Given the description of an element on the screen output the (x, y) to click on. 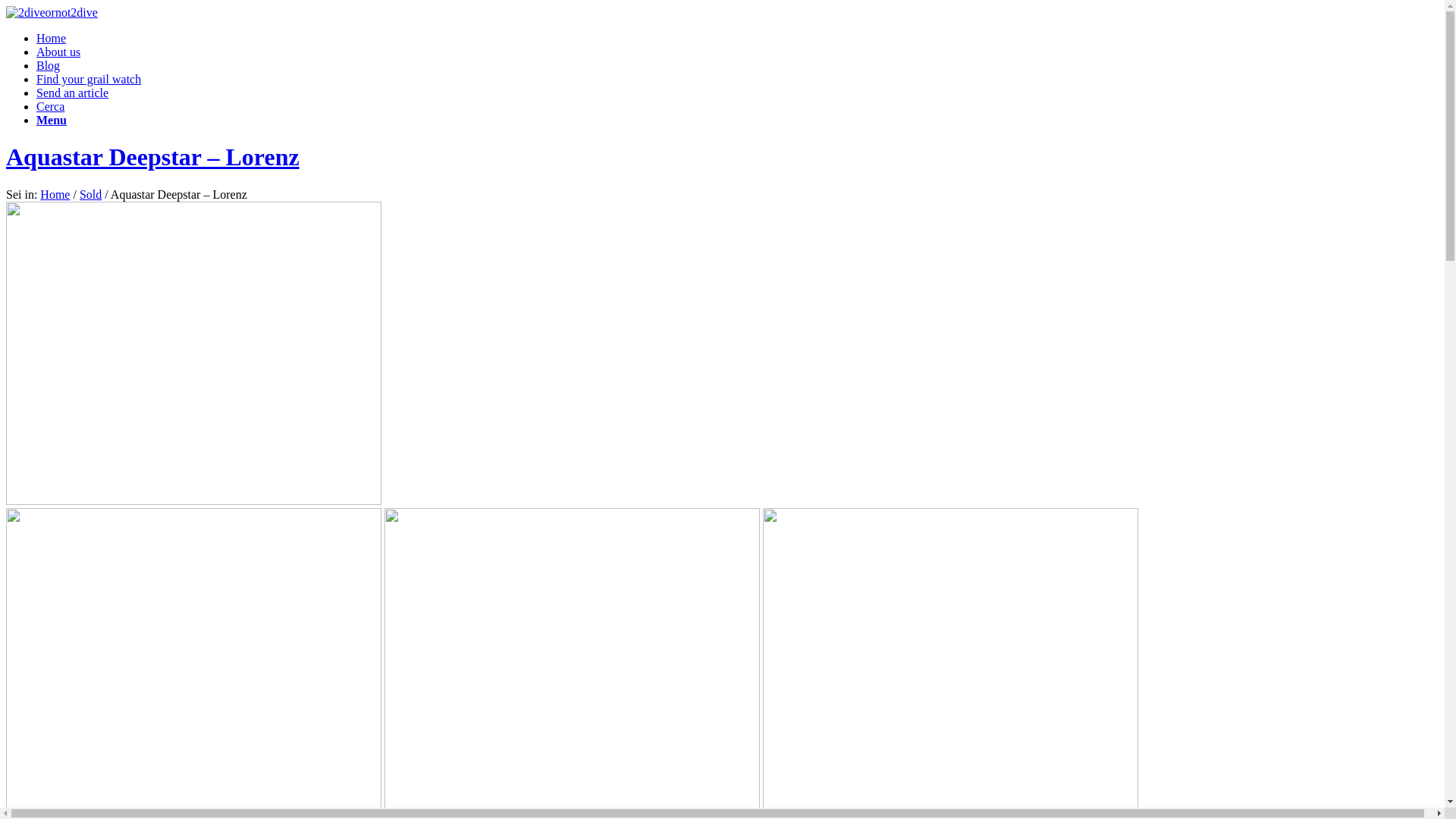
Blog Element type: text (47, 65)
Find your grail watch Element type: text (88, 78)
Home Element type: text (54, 194)
20190625_145811 Element type: hover (193, 659)
20190625_150053 Element type: hover (950, 659)
Sold Element type: text (90, 194)
Send an article Element type: text (72, 92)
Menu Element type: text (51, 119)
20190625_150037 Element type: hover (571, 659)
Cerca Element type: text (50, 106)
Home Element type: text (50, 37)
20190625_145811 Element type: hover (193, 353)
About us Element type: text (58, 51)
